Given the description of an element on the screen output the (x, y) to click on. 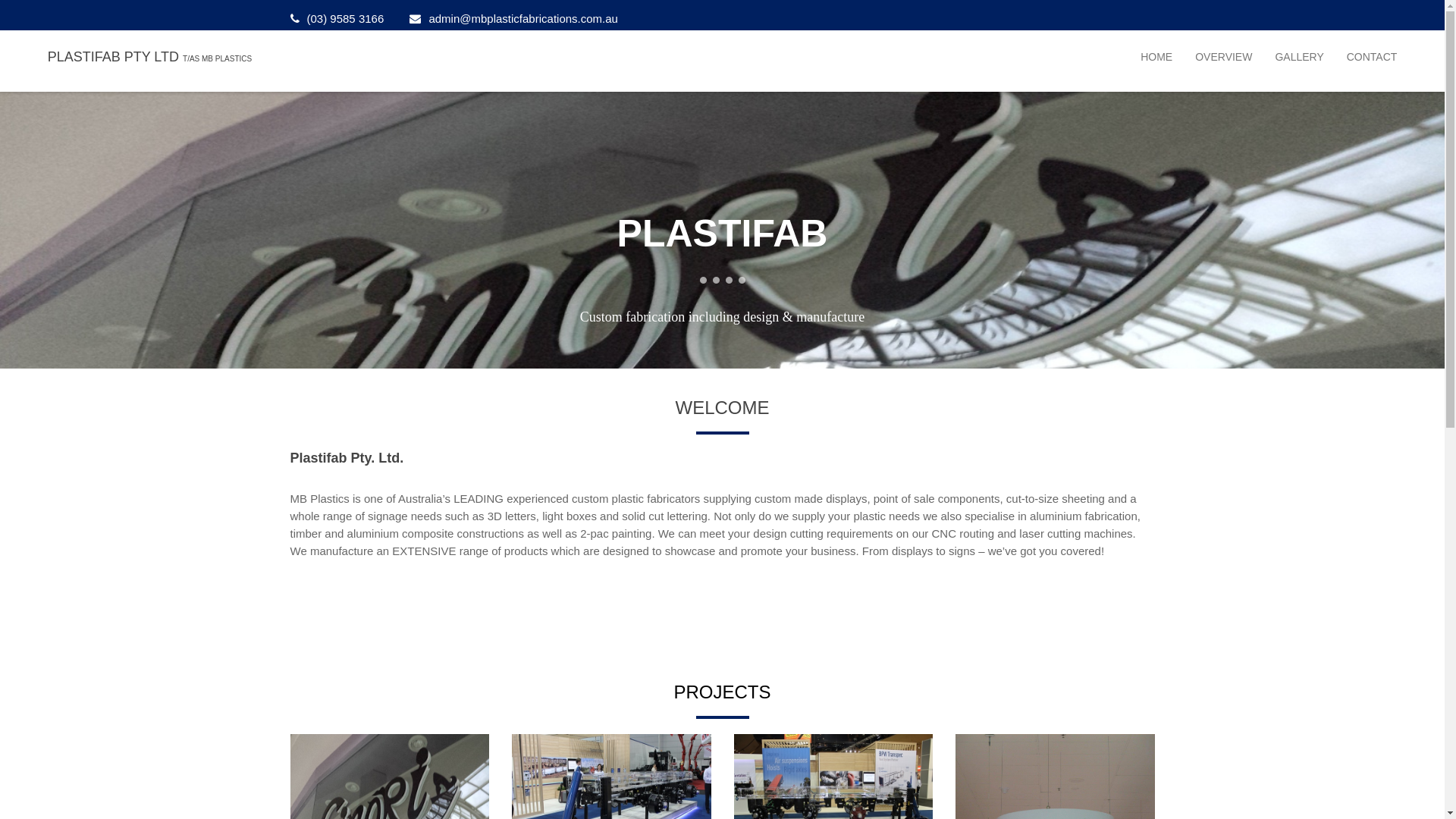
OVERVIEW Element type: text (1223, 56)
GALLERY Element type: text (1298, 56)
CONTACT Element type: text (1371, 56)
PLASTIFAB PTY LTD T/AS MB PLASTICS Element type: text (149, 56)
HOME Element type: text (1156, 56)
